Given the description of an element on the screen output the (x, y) to click on. 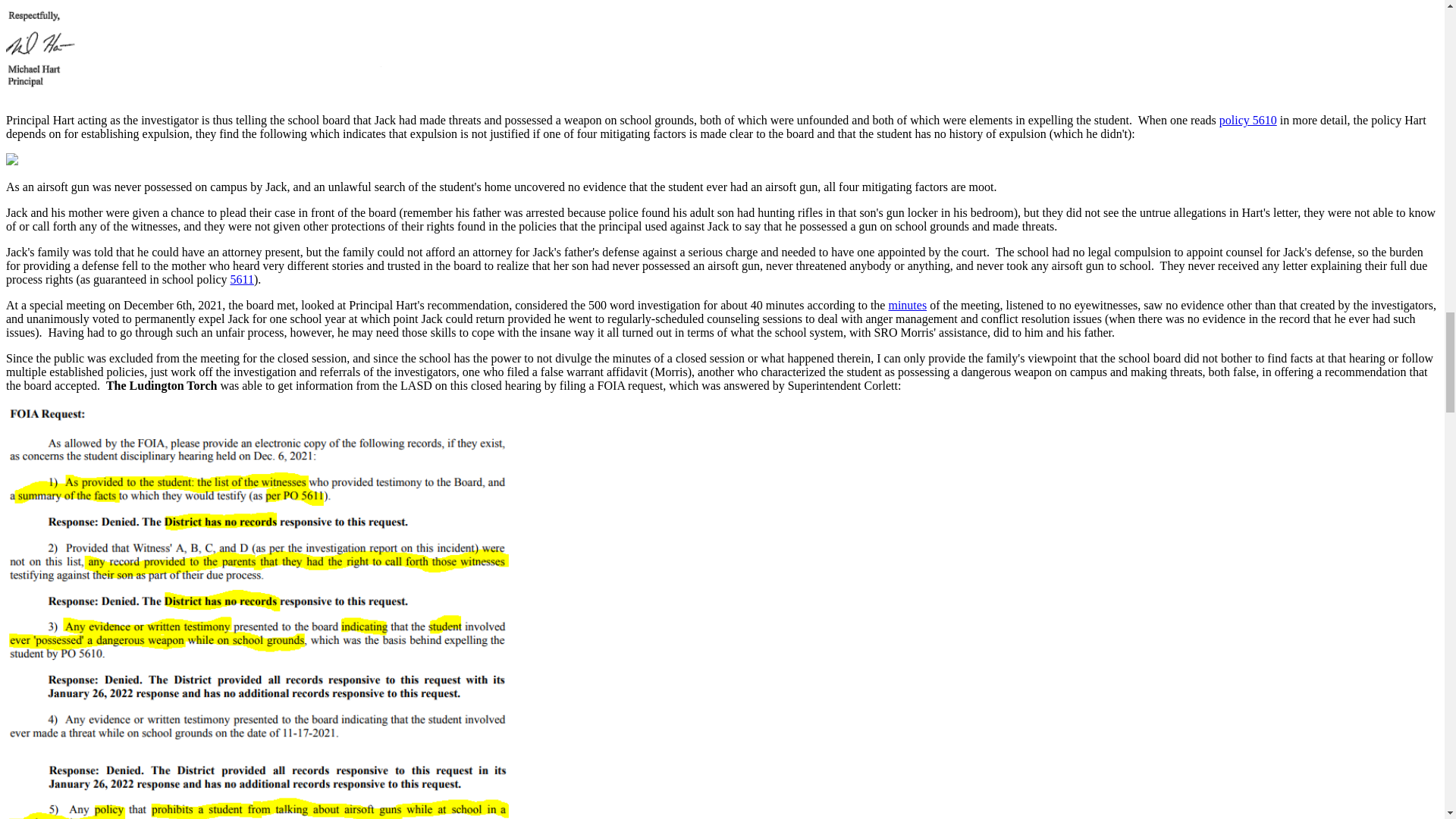
policy 5610 (1248, 119)
5611 (241, 278)
minutes (907, 305)
